Given the description of an element on the screen output the (x, y) to click on. 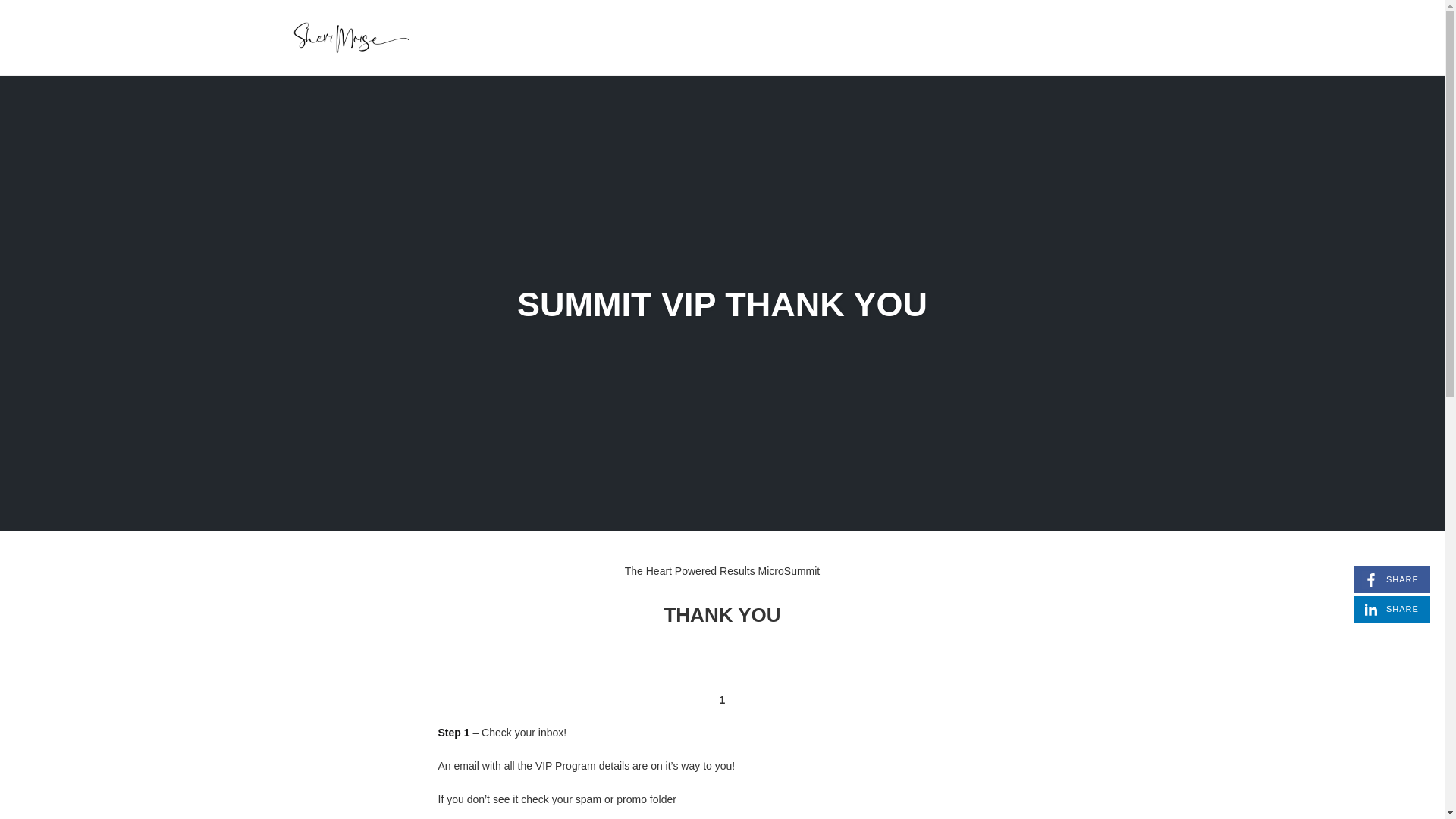
Sheri Moise (349, 37)
SUMMIT VIP THANK YOU (721, 304)
Skip to content (1391, 579)
